Given the description of an element on the screen output the (x, y) to click on. 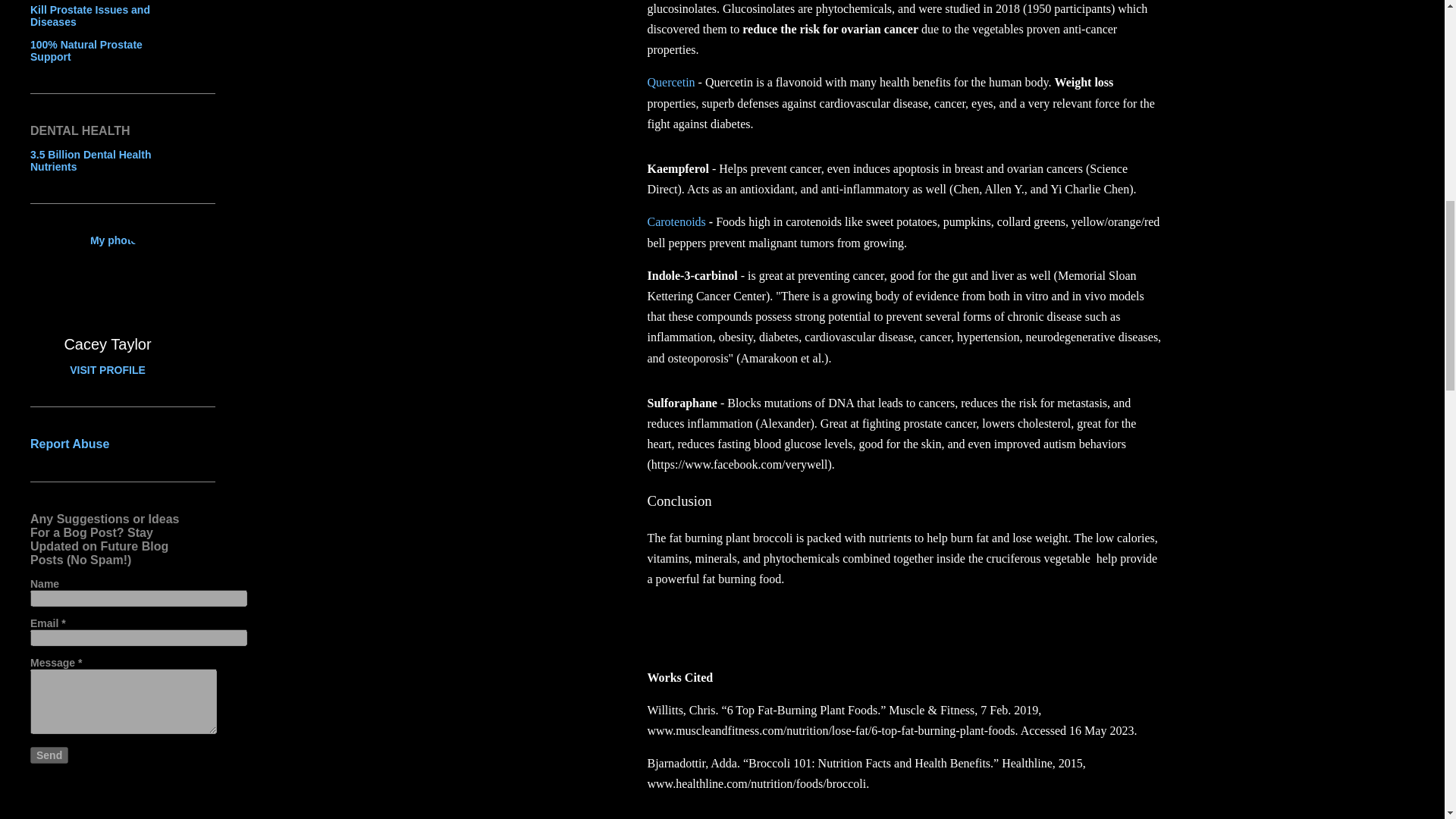
Send (49, 754)
Quercetin (671, 82)
Carotenoids (676, 221)
